Given the description of an element on the screen output the (x, y) to click on. 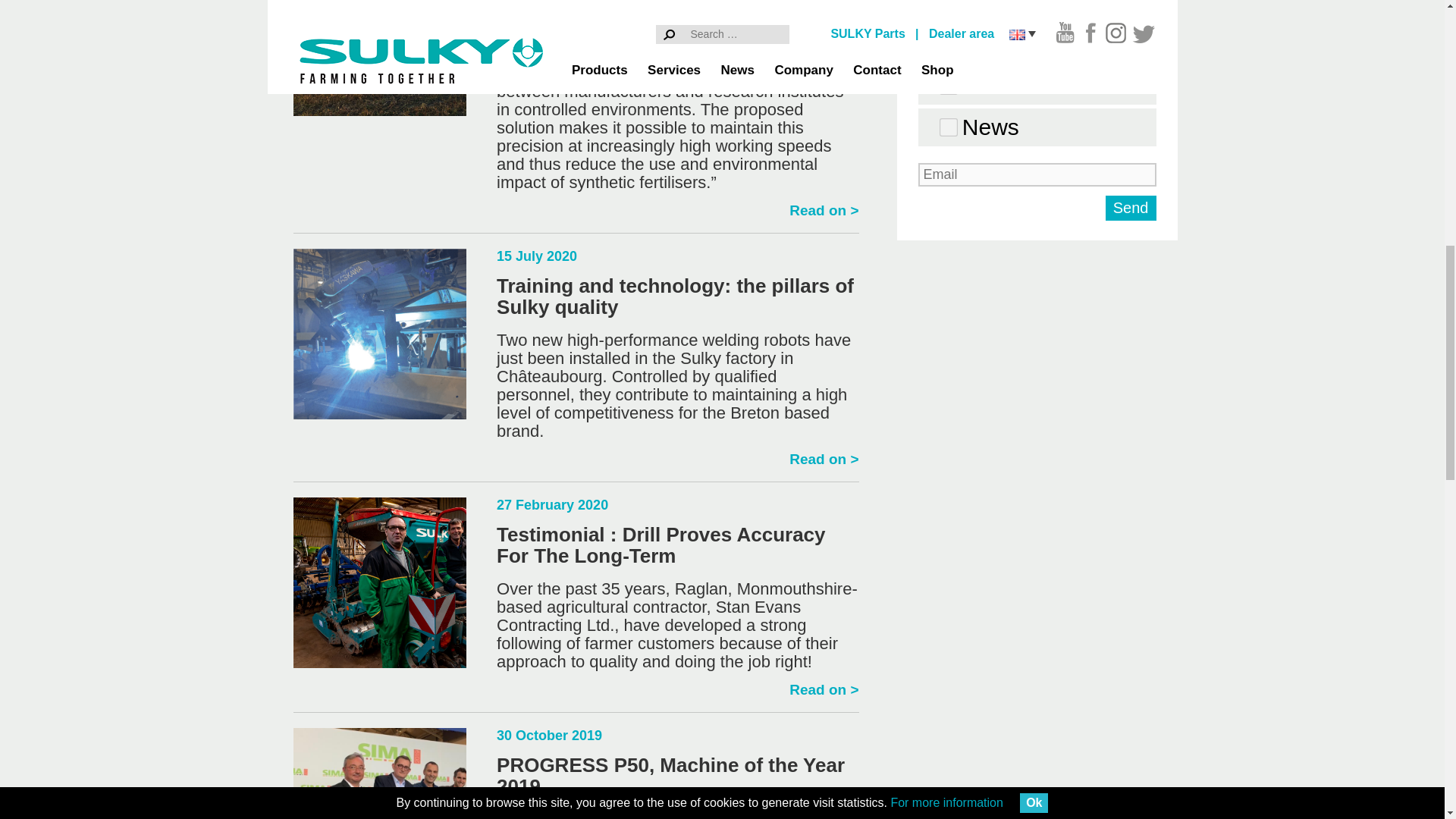
Send (1130, 207)
3 (946, 125)
1 (946, 42)
2 (946, 83)
